Given the description of an element on the screen output the (x, y) to click on. 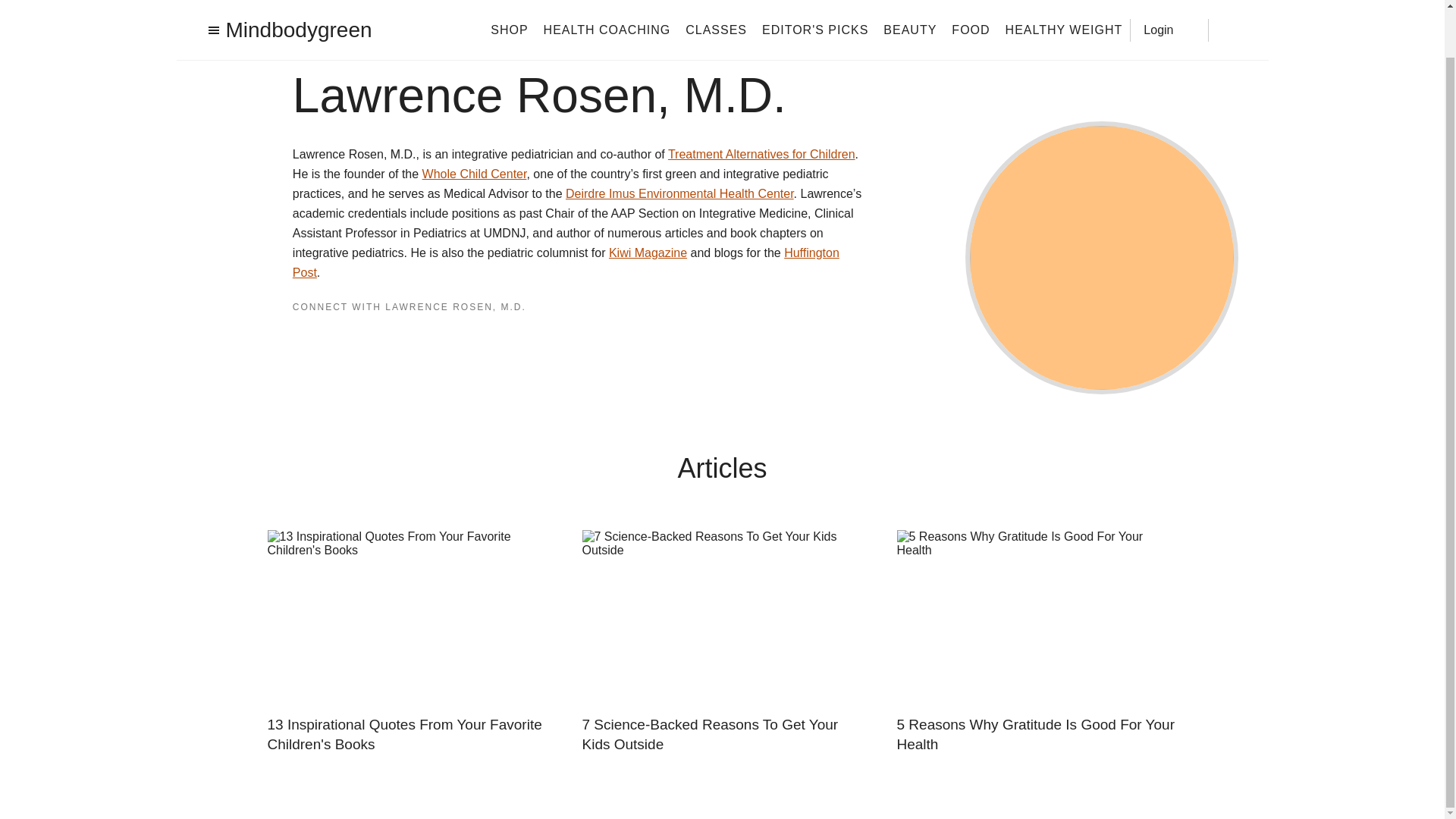
Visit Lawrence Rosen, M.D. on twitter (332, 335)
Visit Lawrence Rosen, M.D. on facebook (298, 336)
Visit Lawrence Rosen, M.D. on website (367, 335)
13 Inspirational Quotes From Your Favorite Children's Books (406, 734)
Kiwi Magazine (647, 252)
Huffington Post (566, 262)
Visit Lawrence Rosen, M.D. on twitter (322, 337)
Visit Lawrence Rosen, M.D. on website (357, 337)
Whole Child Center (474, 173)
Treatment Alternatives for Children (762, 154)
5 Reasons Why Gratitude Is Good For Your Health (1036, 734)
7 Science-Backed Reasons To Get Your Kids Outside (722, 734)
Visit Lawrence Rosen, M.D. on facebook (298, 337)
Deirdre Imus Environmental Health Center (679, 193)
